Given the description of an element on the screen output the (x, y) to click on. 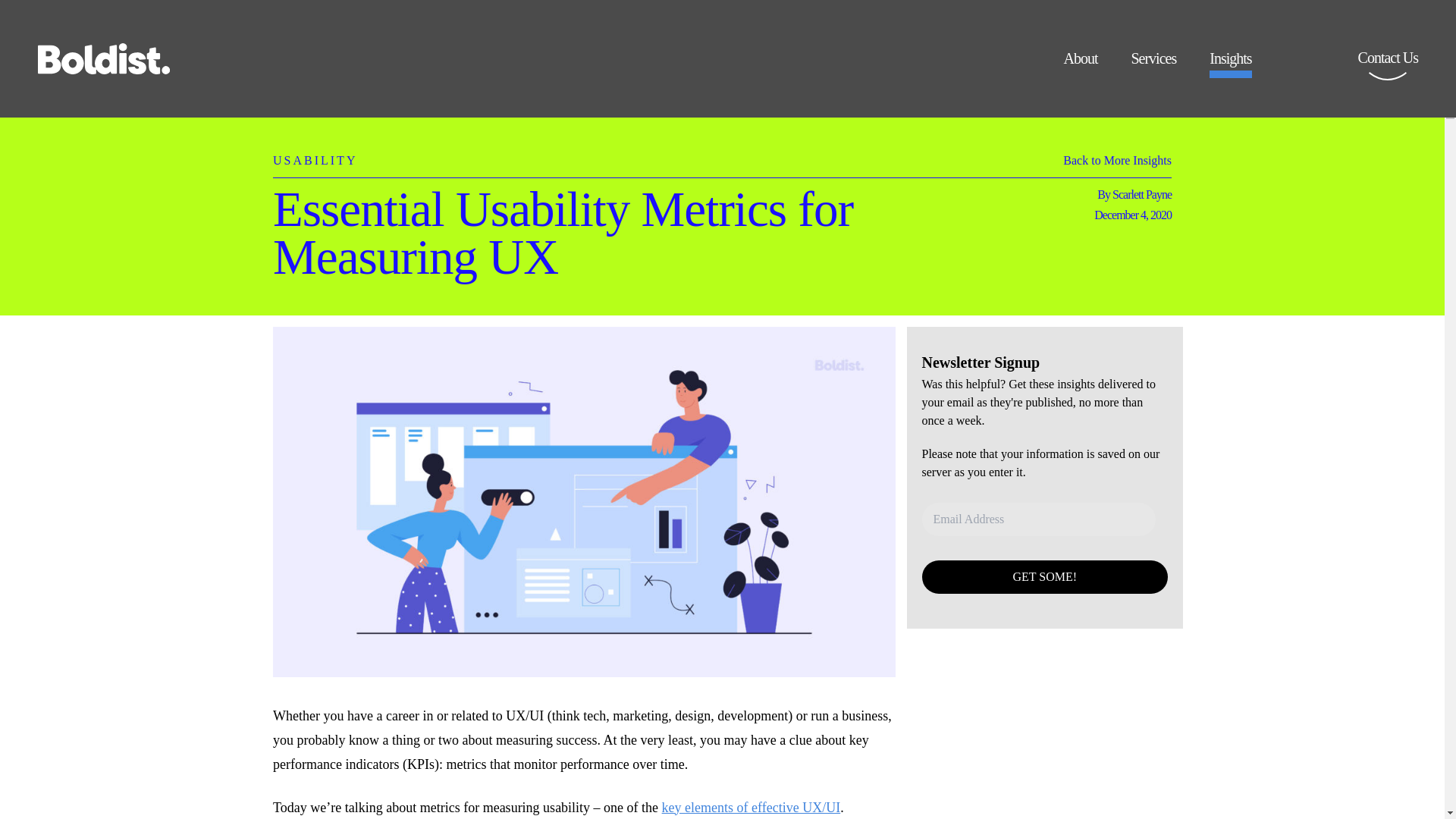
Scarlett Payne (1142, 194)
Back to More Insights (1117, 164)
Insights (1229, 63)
Posts by Scarlett Payne (1142, 194)
Services (1153, 63)
GET SOME! (1045, 576)
GET SOME! (1045, 576)
USABILITY (314, 152)
About (1079, 63)
Contact Us (1388, 68)
